Given the description of an element on the screen output the (x, y) to click on. 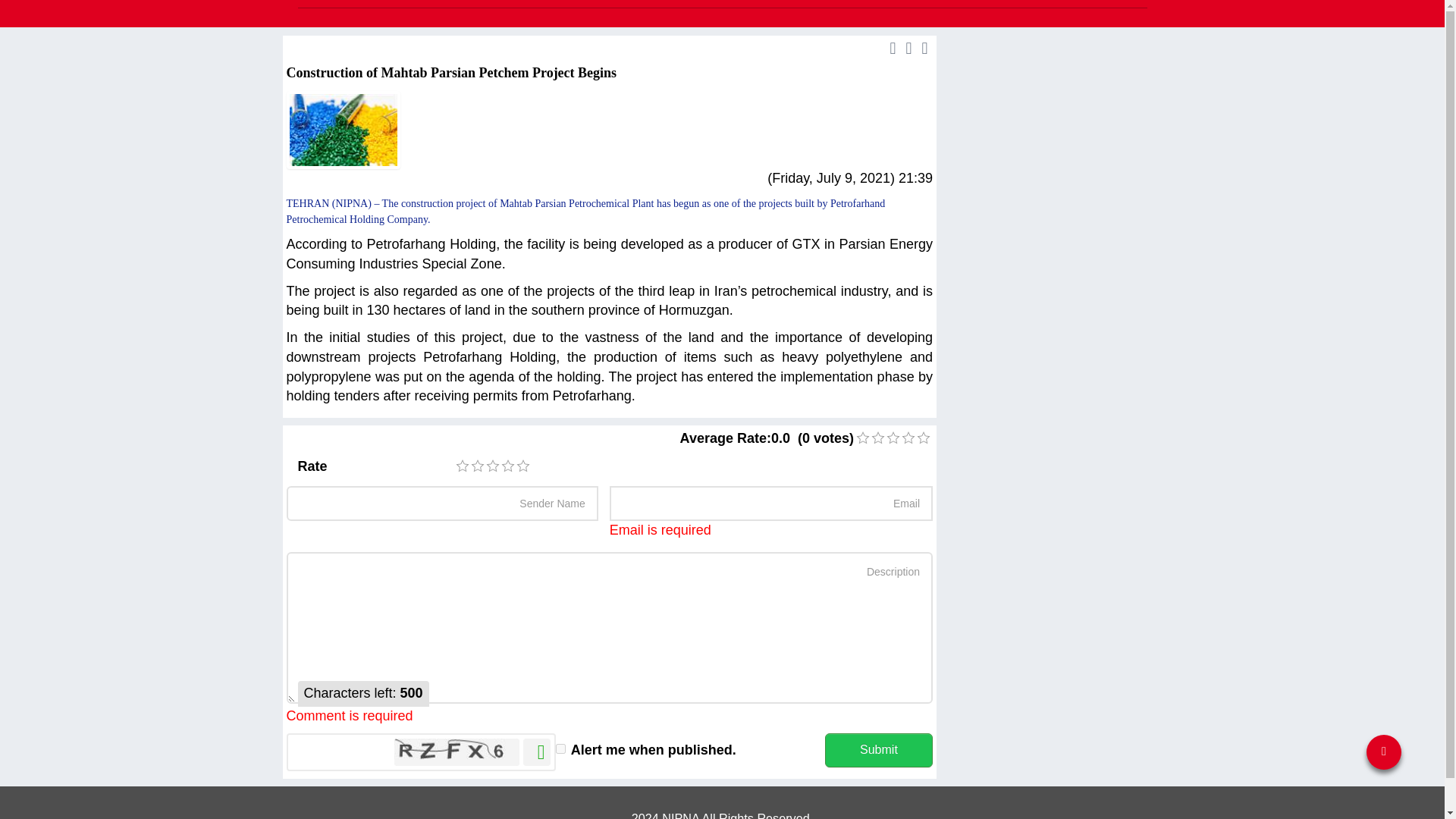
1 (461, 466)
Text Version (893, 47)
5 (923, 438)
Submit (879, 750)
2 (877, 438)
Generate New Image (536, 751)
0 (877, 438)
2 (477, 466)
1 (862, 438)
Tell a Friend (925, 47)
Construction of Mahtab Parsian Petchem Project Begins (343, 129)
0 (923, 438)
PDF Version (909, 47)
Generate New Image (536, 751)
3 (492, 466)
